Given the description of an element on the screen output the (x, y) to click on. 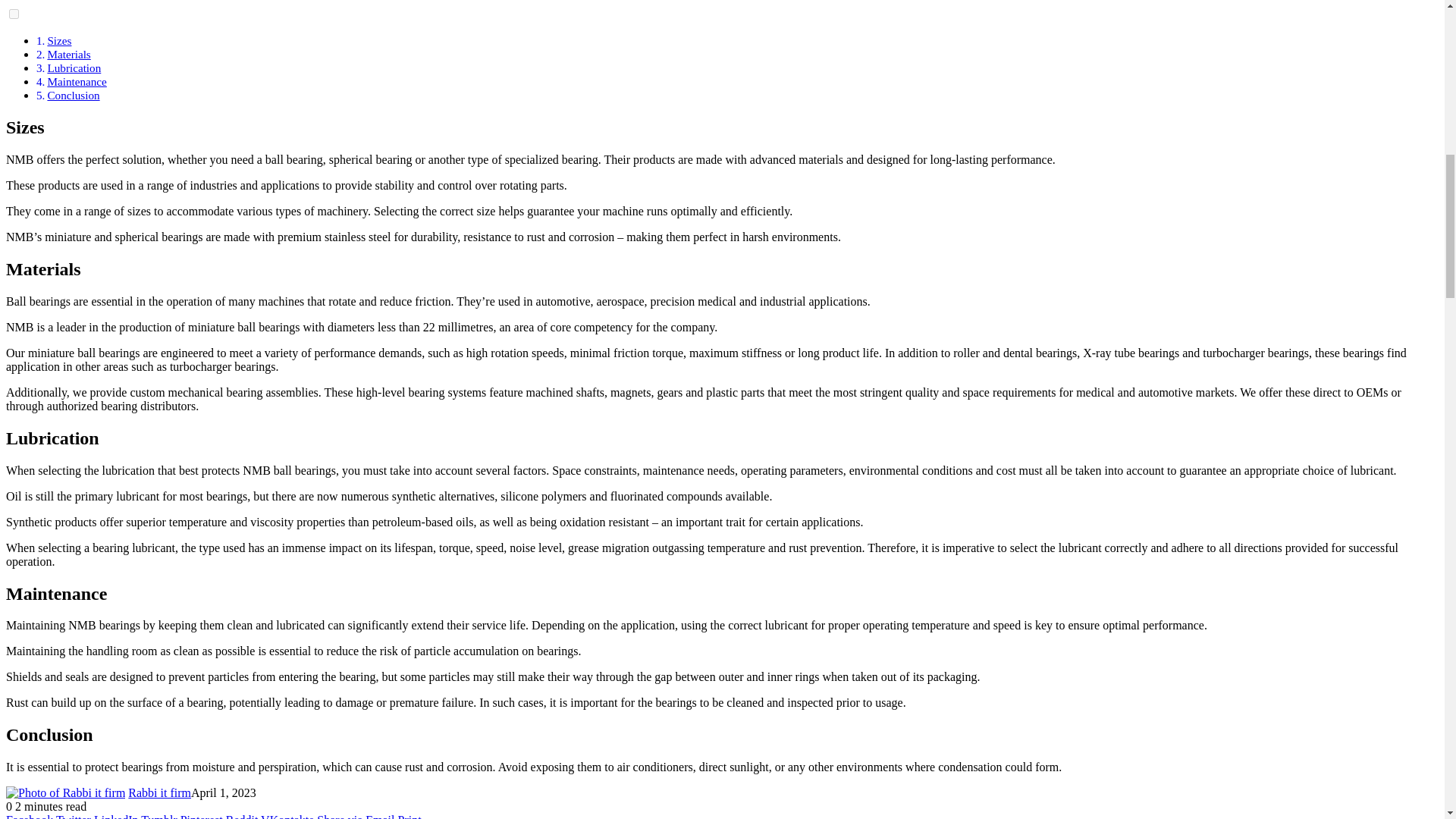
on (13, 13)
Materials (68, 53)
Twitter (75, 816)
LinkedIn (117, 816)
Pinterest (202, 816)
Maintenance (76, 81)
Sizes (58, 40)
Maintenance (76, 81)
Share via Email (357, 816)
Twitter (75, 816)
LinkedIn (117, 816)
Materials (68, 53)
Sizes (58, 40)
Lubrication (73, 67)
Reddit (242, 816)
